Given the description of an element on the screen output the (x, y) to click on. 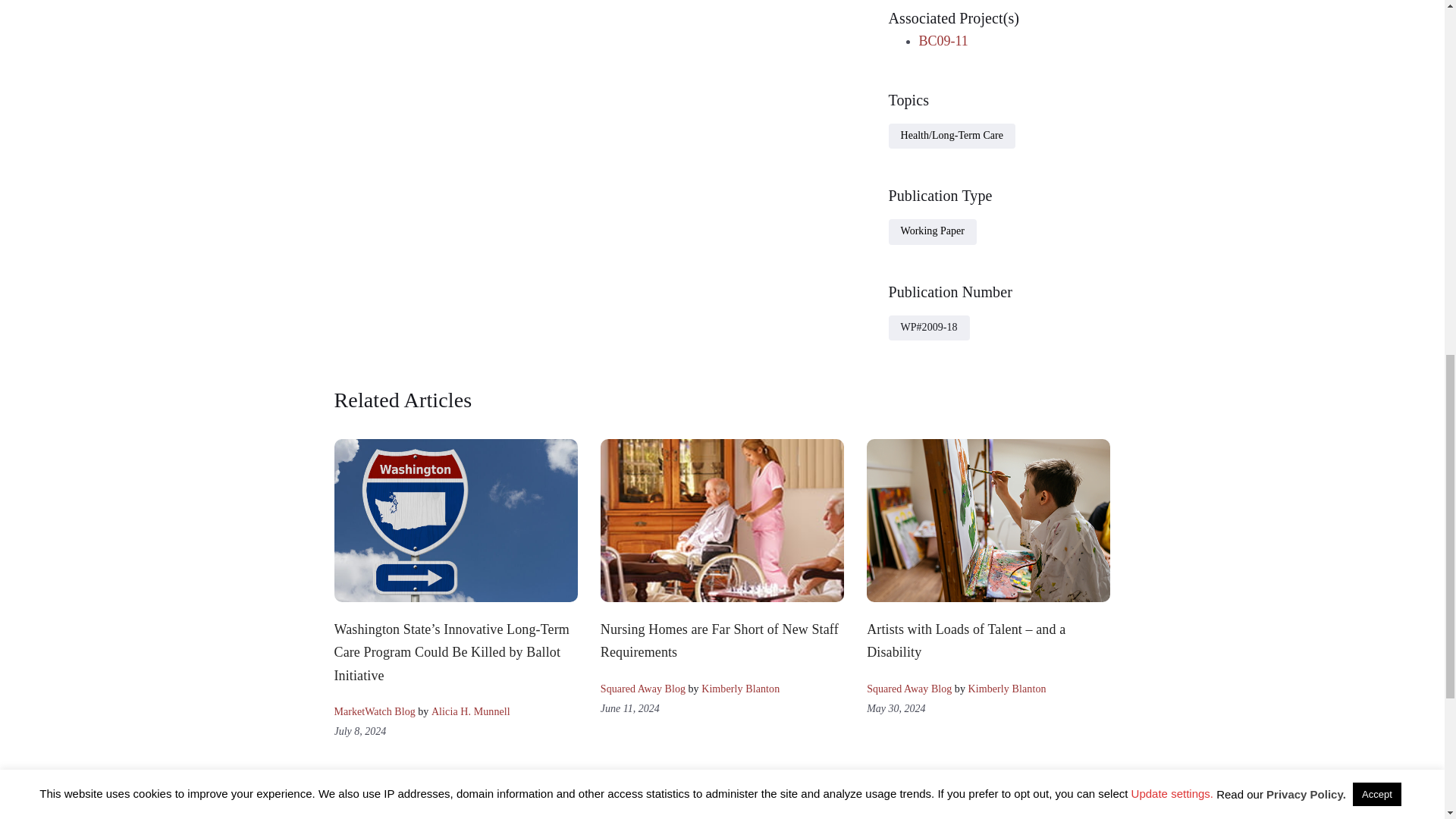
Posts by Kimberly Blanton (739, 688)
MarketWatch Blog (373, 711)
BC09-11 (943, 40)
Working Paper (933, 230)
Squared Away Blog (909, 688)
Posts by Kimberly Blanton (1006, 688)
Kimberly Blanton (739, 688)
Posts by Alicia H. Munnell (470, 711)
Alicia H. Munnell (470, 711)
Squared Away Blog (642, 688)
Nursing Homes are Far Short of New Staff Requirements (718, 640)
